Given the description of an element on the screen output the (x, y) to click on. 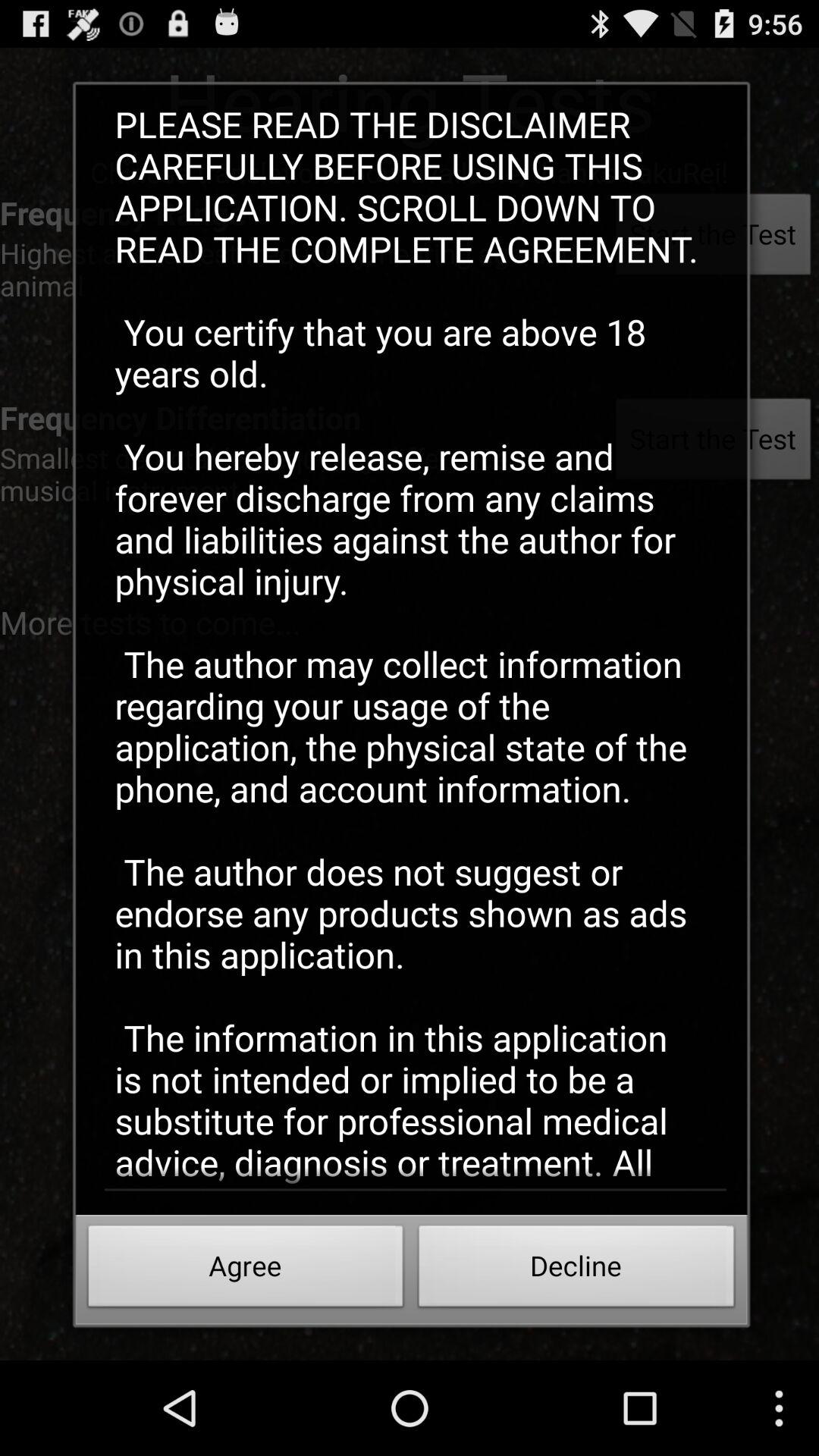
open the button next to the agree button (576, 1270)
